Given the description of an element on the screen output the (x, y) to click on. 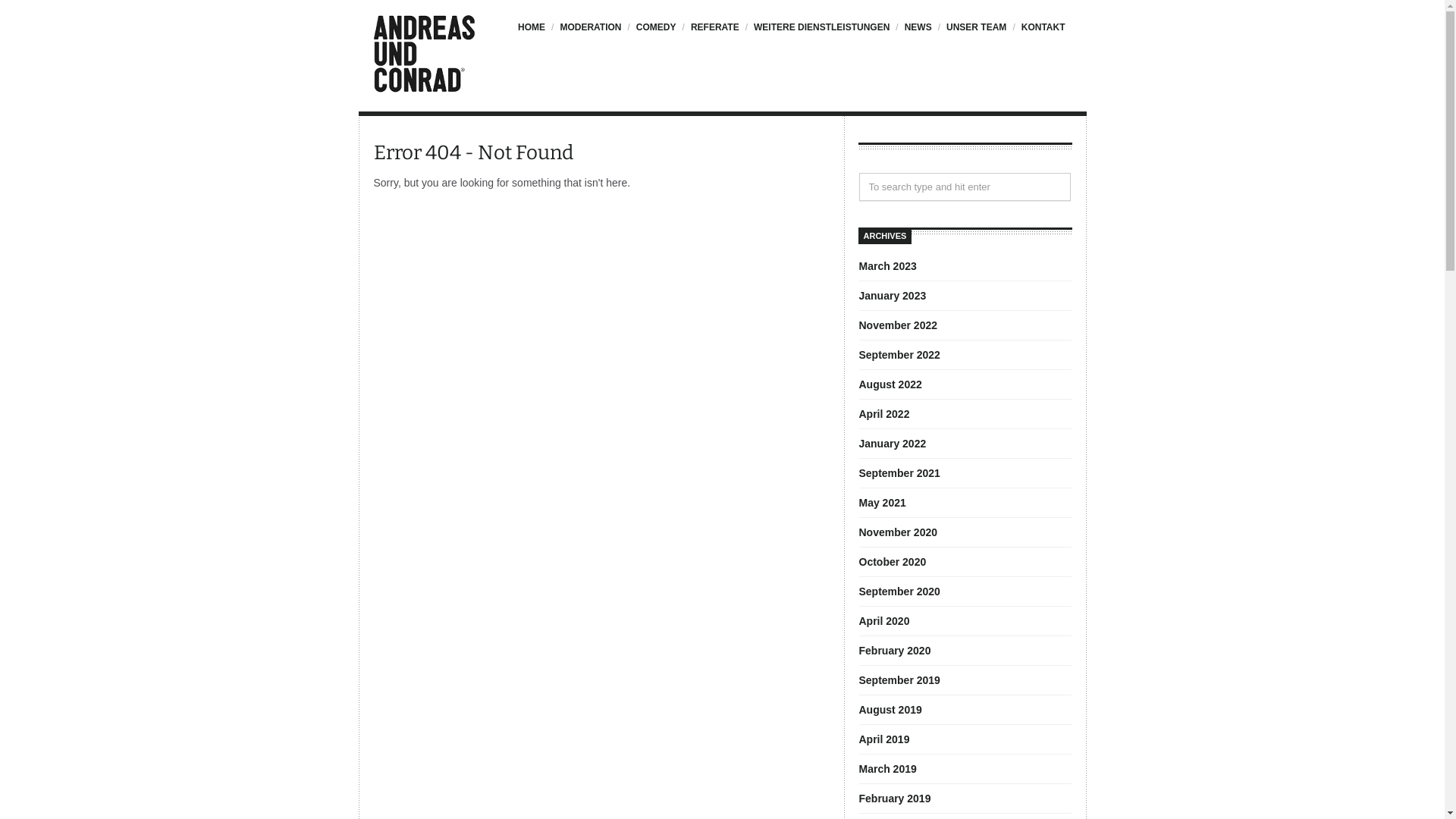
COMEDY Element type: text (654, 34)
October 2020 Element type: text (891, 561)
KONTAKT Element type: text (1041, 34)
August 2019 Element type: text (889, 709)
November 2020 Element type: text (897, 532)
WEITERE DIENSTLEISTUNGEN Element type: text (820, 34)
April 2020 Element type: text (883, 621)
NEWS Element type: text (916, 34)
September 2022 Element type: text (898, 354)
UNSER TEAM Element type: text (975, 34)
January 2022 Element type: text (891, 443)
MODERATION Element type: text (589, 34)
April 2019 Element type: text (883, 739)
September 2019 Element type: text (898, 680)
March 2019 Element type: text (887, 768)
May 2021 Element type: text (881, 502)
September 2020 Element type: text (898, 591)
February 2020 Element type: text (894, 650)
REFERATE Element type: text (713, 34)
January 2023 Element type: text (891, 295)
HOME Element type: text (534, 34)
February 2019 Element type: text (894, 798)
September 2021 Element type: text (898, 473)
August 2022 Element type: text (889, 384)
April 2022 Element type: text (883, 413)
March 2023 Element type: text (887, 266)
November 2022 Element type: text (897, 325)
